Given the description of an element on the screen output the (x, y) to click on. 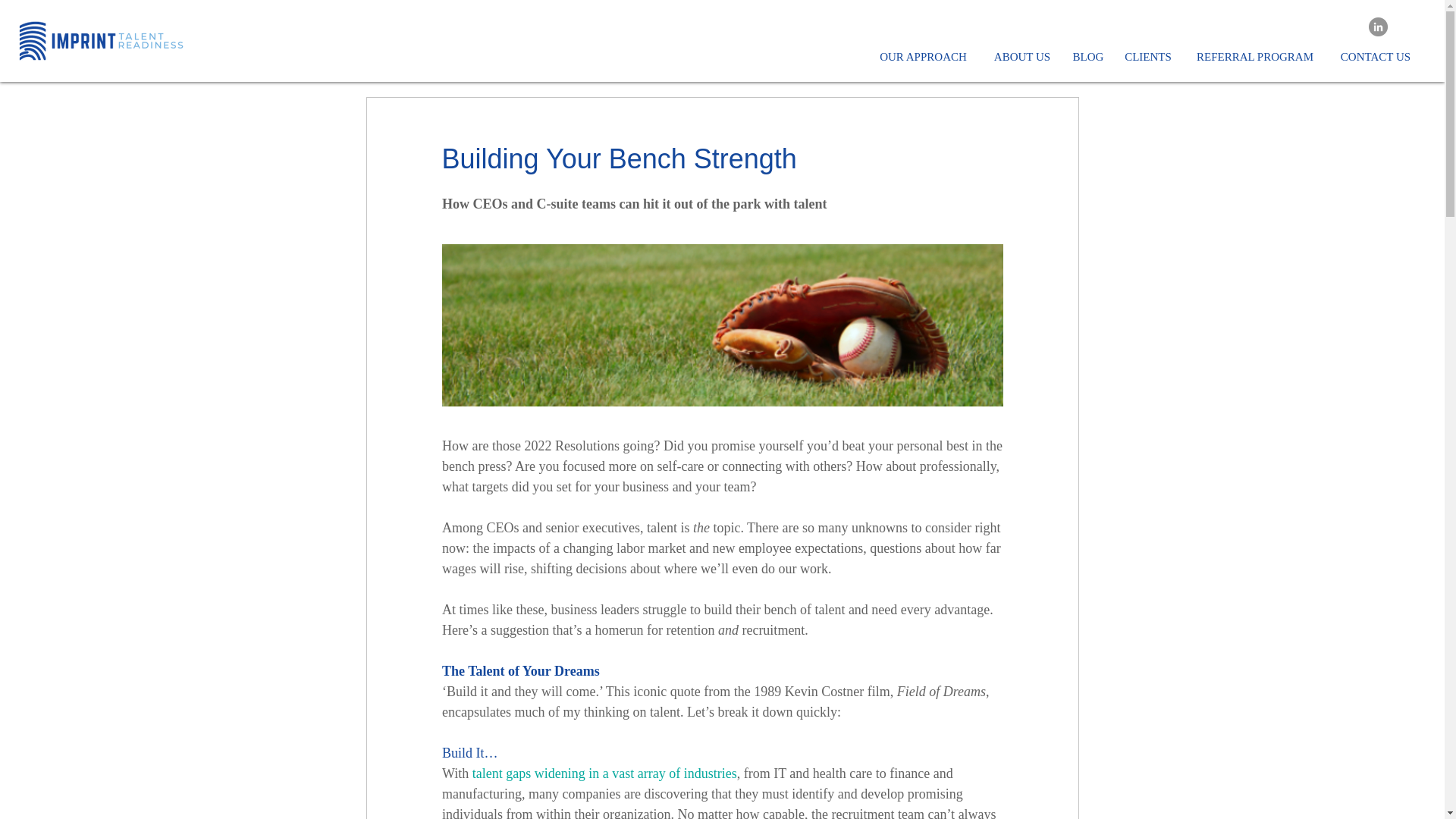
BLOG (1088, 56)
REFERRAL PROGRAM (1254, 56)
ABOUT US (1021, 56)
CONTACT US (1375, 56)
CLIENTS (1147, 56)
talent gaps widening in a vast array of industries (603, 773)
OUR APPROACH (922, 56)
